Given the description of an element on the screen output the (x, y) to click on. 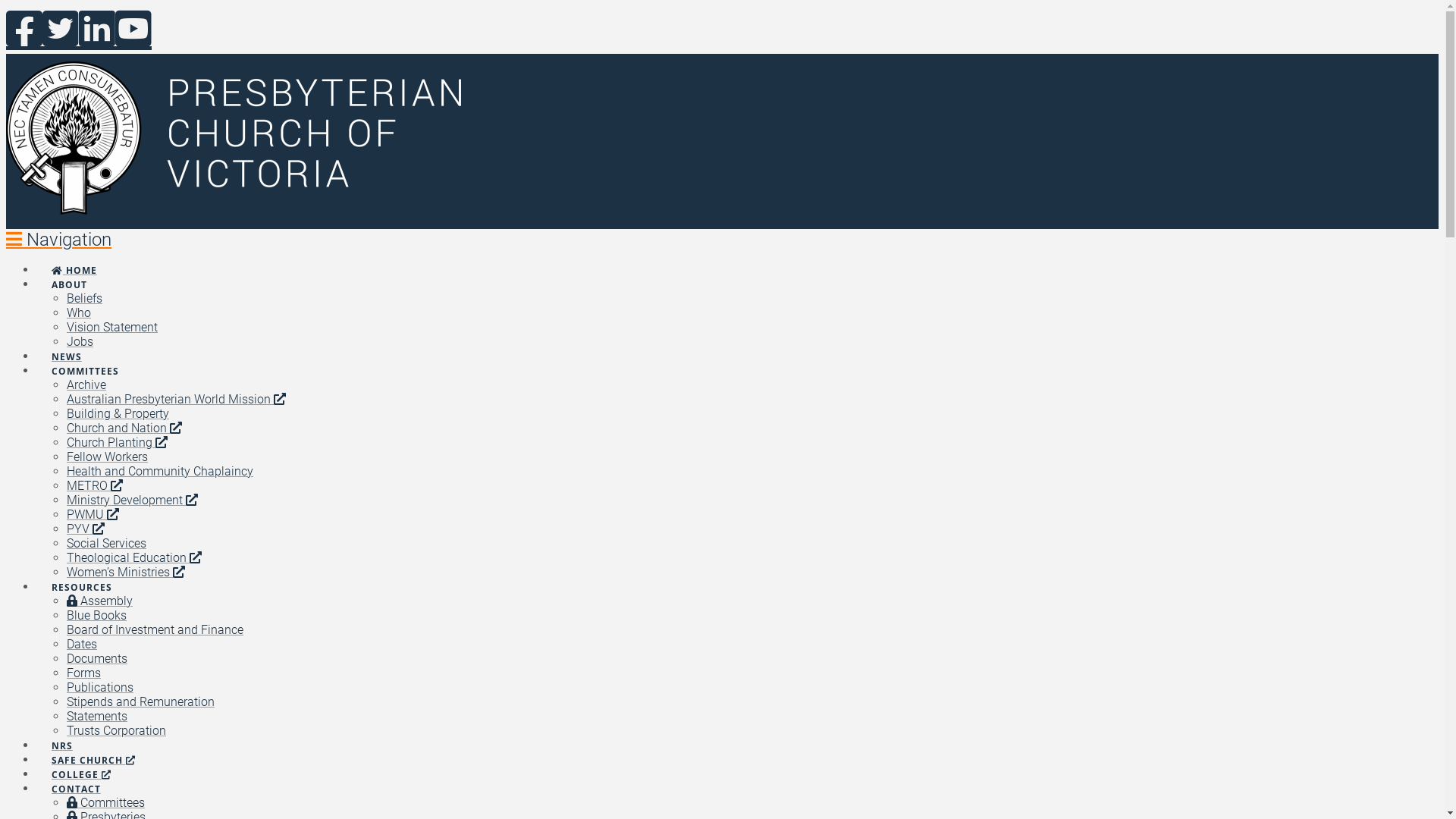
Social Services Element type: text (106, 543)
SAFE CHURCH Element type: text (93, 745)
Forms Element type: text (83, 672)
PWMU Element type: text (92, 514)
Facebook Element type: hover (24, 29)
Archive Element type: text (86, 384)
YouTube Element type: hover (133, 29)
COMMITTEES Element type: text (84, 356)
Assembly Element type: text (99, 600)
RESOURCES Element type: text (81, 572)
Jobs Element type: text (79, 341)
Fellow Workers Element type: text (106, 456)
Beliefs Element type: text (84, 298)
CONTACT Element type: text (75, 774)
Stipends and Remuneration Element type: text (140, 701)
Statements Element type: text (96, 716)
Theological Education Element type: text (133, 557)
NRS Element type: text (61, 731)
Board of Investment and Finance Element type: text (154, 629)
NEWS Element type: text (66, 342)
Church Planting Element type: text (116, 442)
Twitter Element type: hover (60, 29)
COLLEGE Element type: text (80, 760)
Health and Community Chaplaincy Element type: text (159, 471)
Dates Element type: text (81, 644)
Who Element type: text (78, 312)
PYV Element type: text (85, 528)
Church and Nation Element type: text (124, 427)
Trusts Corporation Element type: text (116, 730)
ABOUT Element type: text (68, 270)
METRO Element type: text (94, 485)
Building & Property Element type: text (117, 413)
Navigation Element type: text (58, 239)
Publications Element type: text (99, 687)
Documents Element type: text (96, 658)
HOME Element type: text (73, 255)
Ministry Development Element type: text (131, 499)
Vision Statement Element type: text (111, 327)
Committees Element type: text (105, 802)
Blue Books Element type: text (96, 615)
LinkedIn Element type: hover (96, 29)
Australian Presbyterian World Mission Element type: text (175, 399)
